Given the description of an element on the screen output the (x, y) to click on. 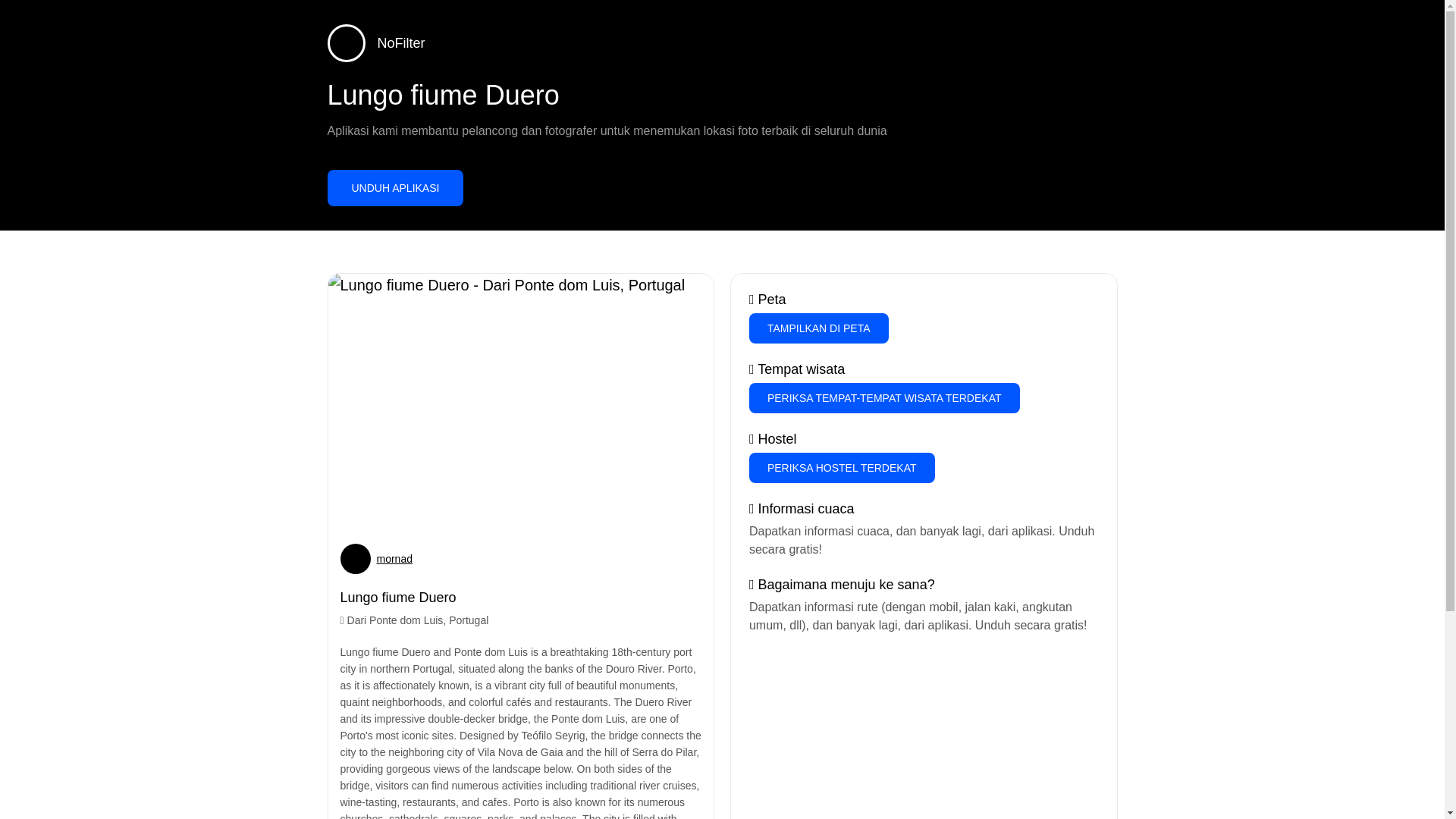
UNDUH APLIKASI (395, 187)
TAMPILKAN DI PETA (818, 327)
PERIKSA HOSTEL TERDEKAT (841, 467)
mornad (393, 558)
PERIKSA TEMPAT-TEMPAT WISATA TERDEKAT (884, 398)
